Given the description of an element on the screen output the (x, y) to click on. 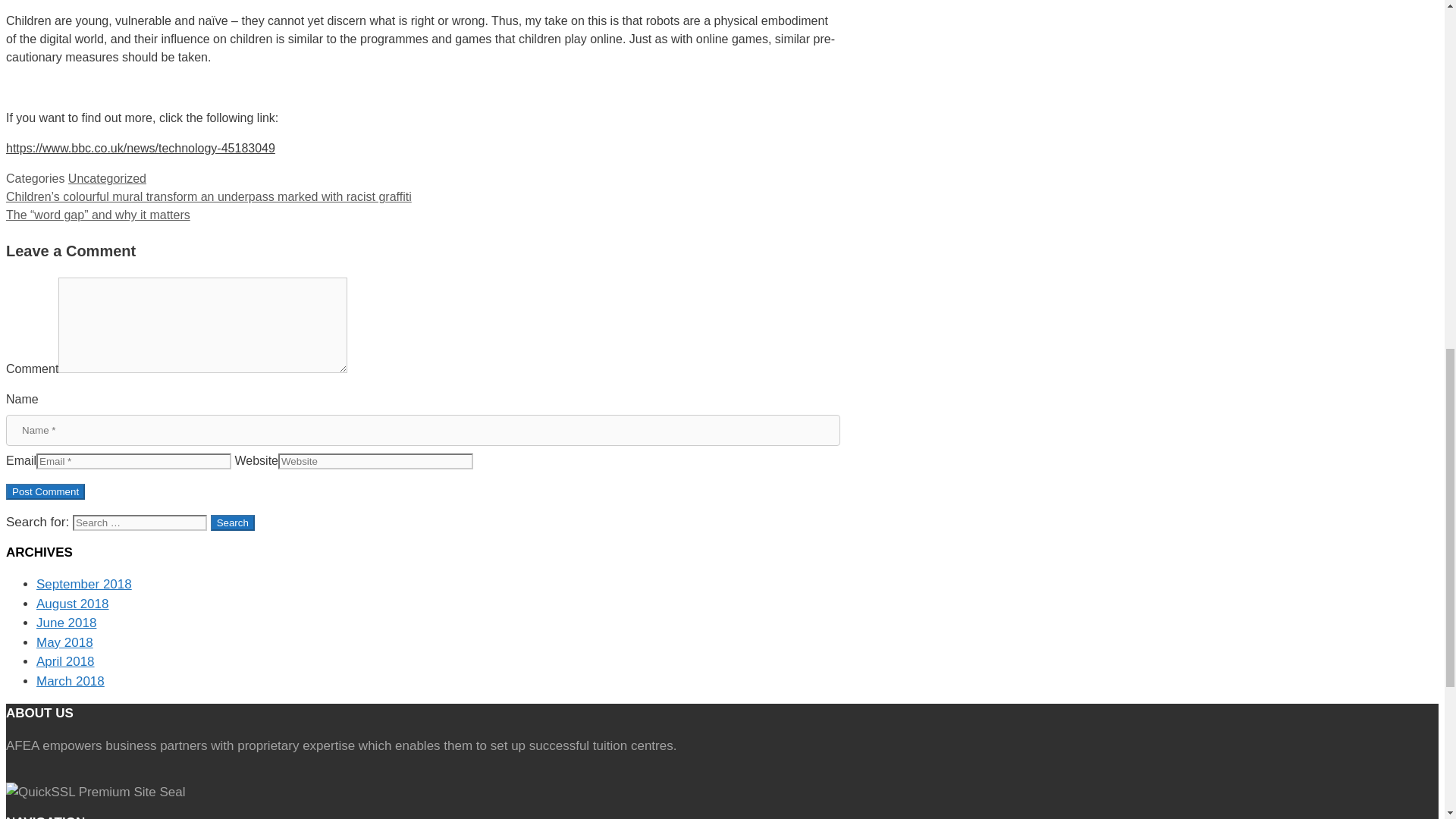
Search (232, 522)
Post Comment (44, 491)
March 2018 (70, 681)
August 2018 (71, 603)
Post Comment (44, 491)
Search for: (139, 522)
May 2018 (64, 642)
June 2018 (66, 622)
Search (232, 522)
April 2018 (65, 661)
Uncategorized (107, 178)
Search (232, 522)
September 2018 (84, 584)
